Given the description of an element on the screen output the (x, y) to click on. 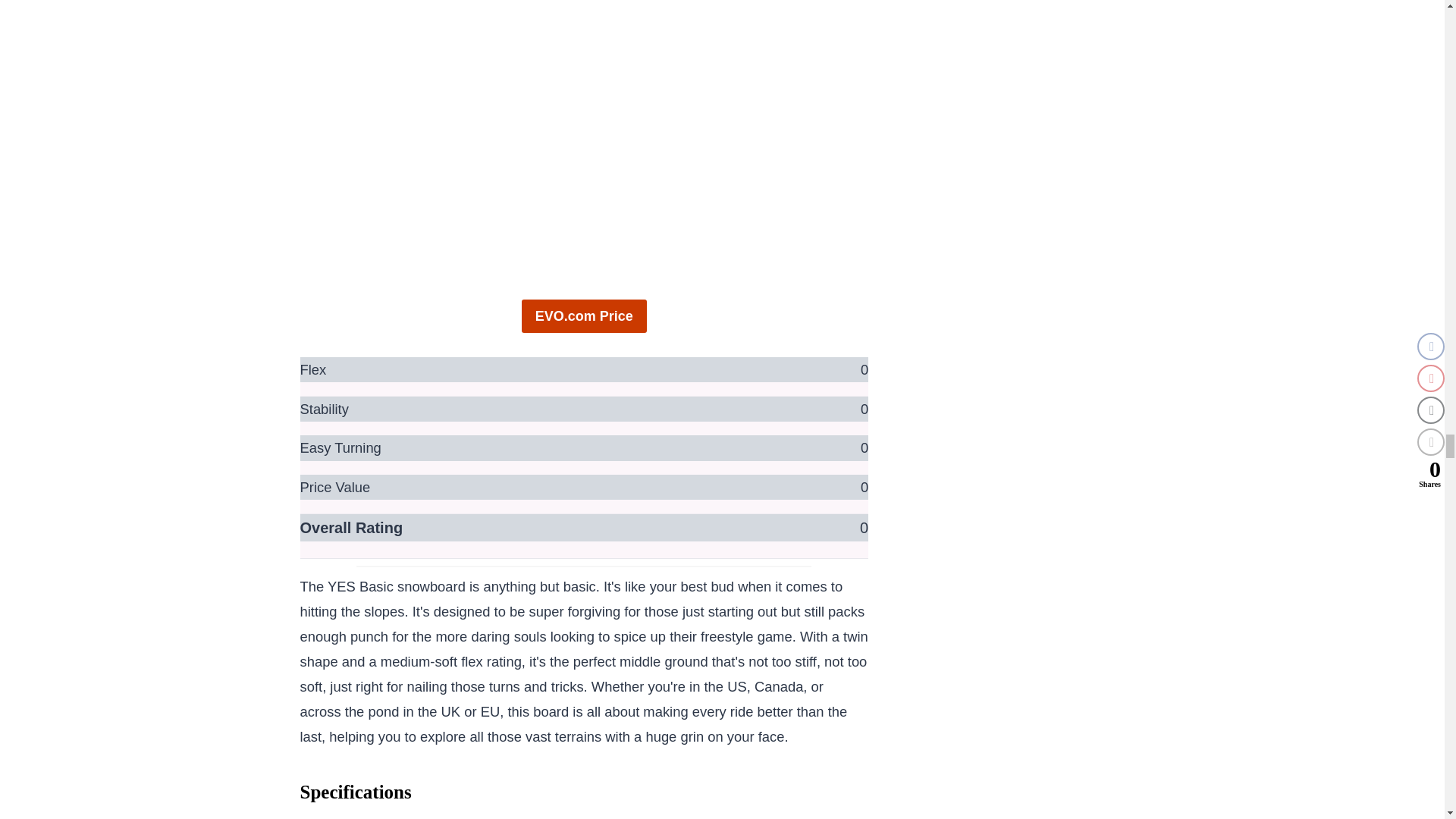
EVO.com Price (583, 315)
